Given the description of an element on the screen output the (x, y) to click on. 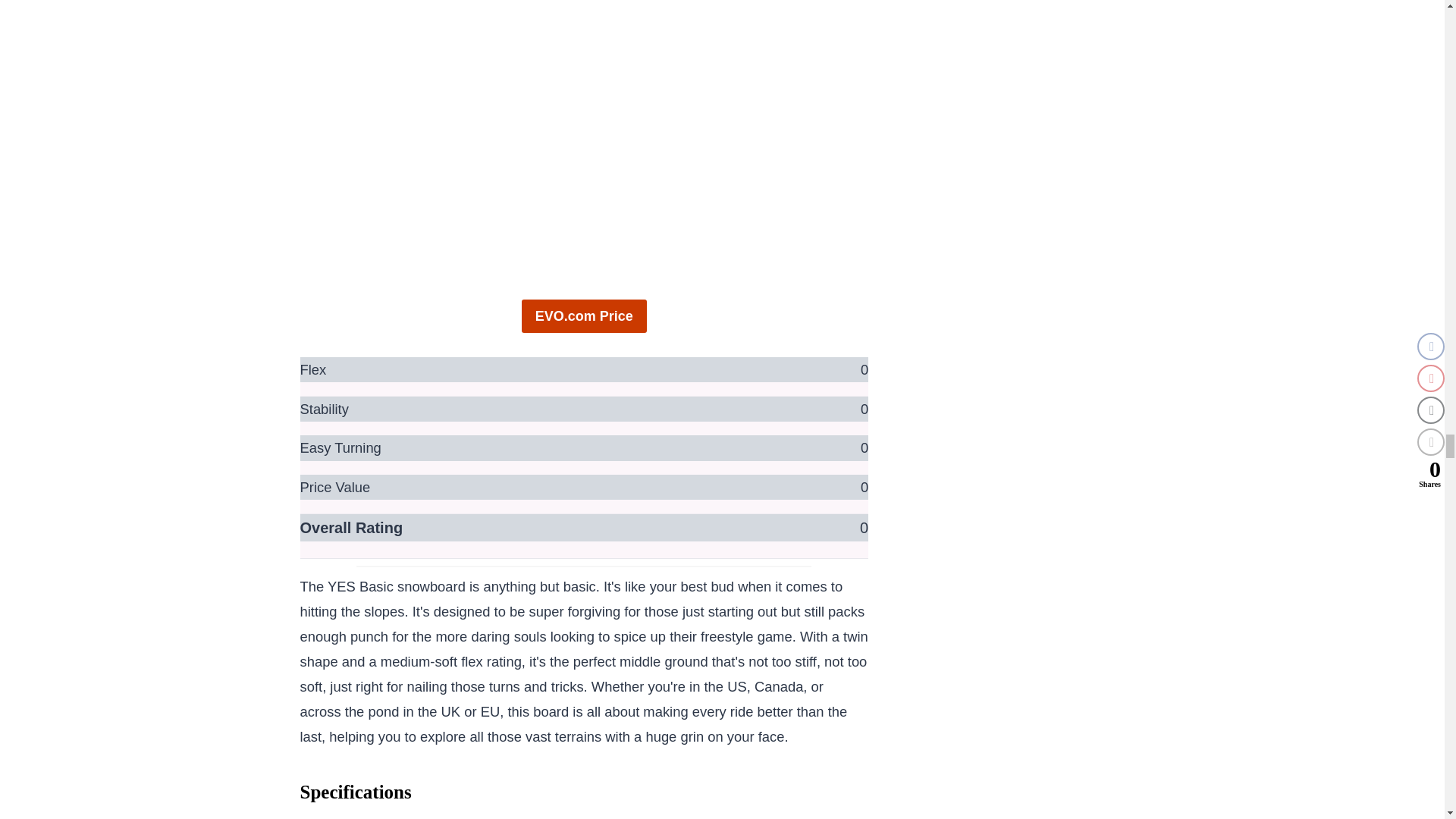
EVO.com Price (583, 315)
